Given the description of an element on the screen output the (x, y) to click on. 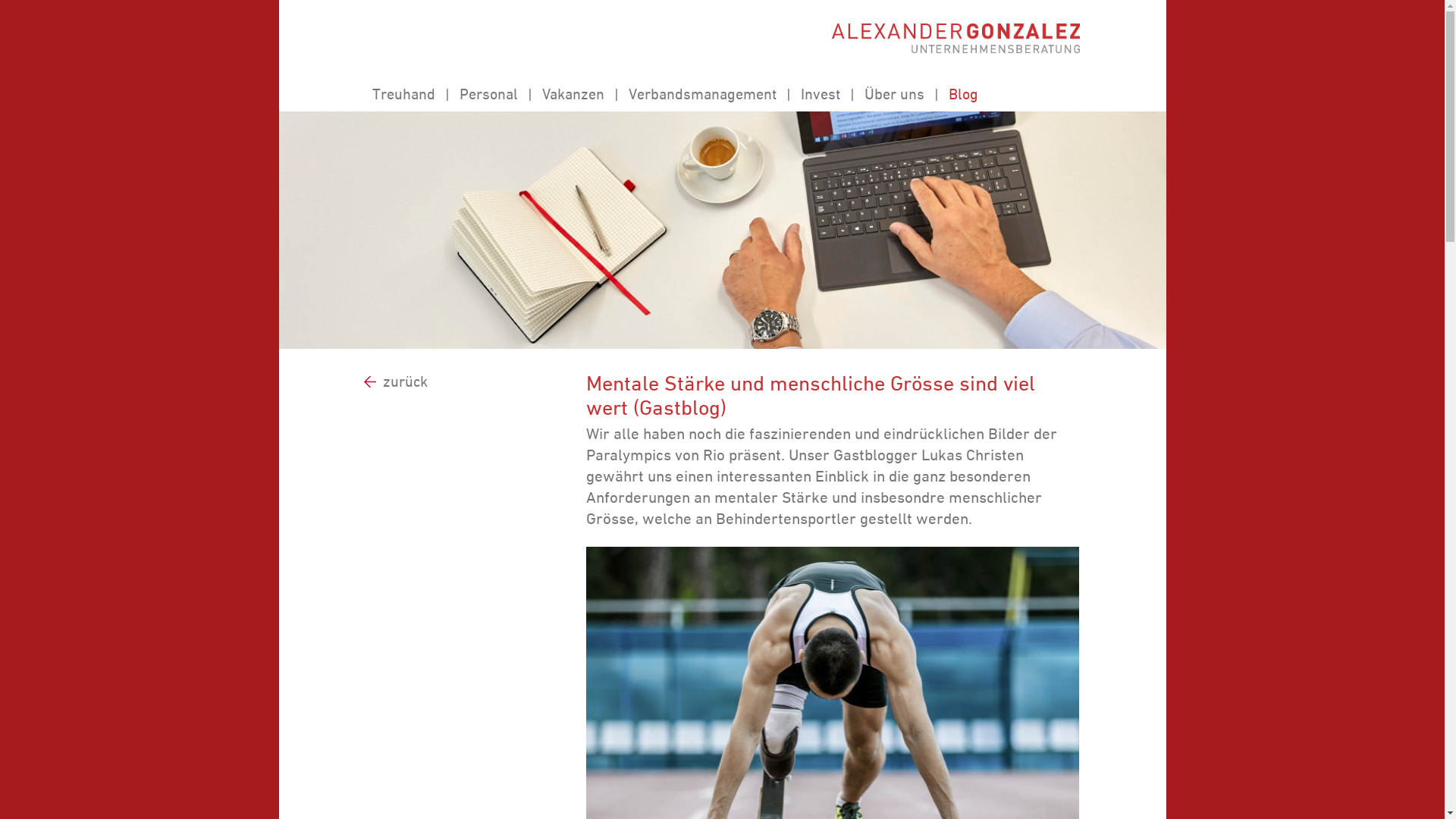
Vakanzen Element type: text (573, 94)
Invest Element type: text (820, 94)
Treuhand Element type: text (403, 94)
Personal Element type: text (488, 94)
Verbandsmanagement Element type: text (702, 94)
Blog Element type: text (963, 94)
